Given the description of an element on the screen output the (x, y) to click on. 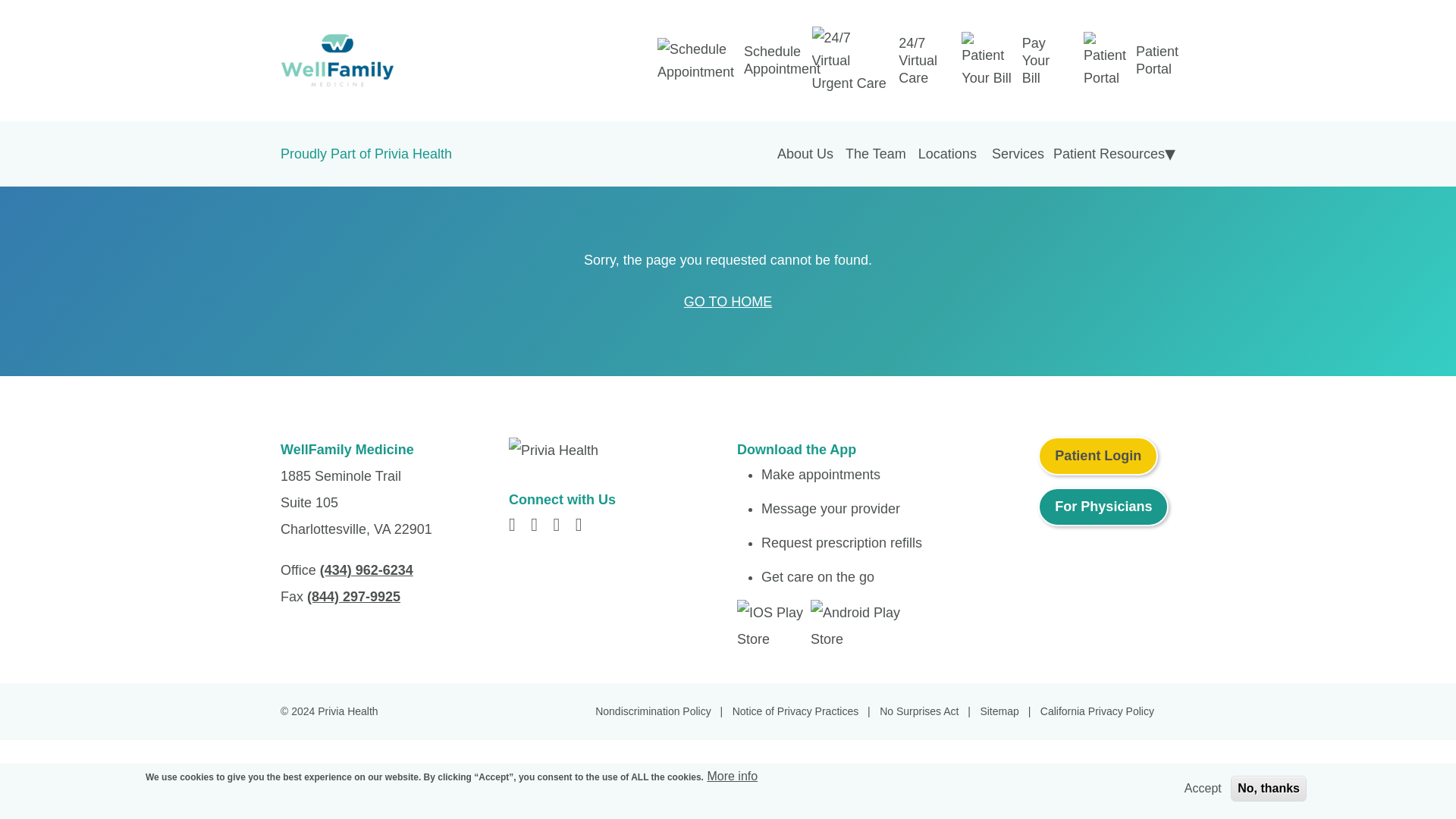
No Surprises Act (927, 711)
Locations (947, 153)
The Team (876, 153)
About Us (805, 153)
Nondiscrimination Policy (662, 711)
Sitemap (1007, 711)
GO TO HOME (727, 301)
Notice of Privacy Practices (804, 711)
WellFamily Medicine (423, 60)
Schedule Appointment (785, 60)
